Given the description of an element on the screen output the (x, y) to click on. 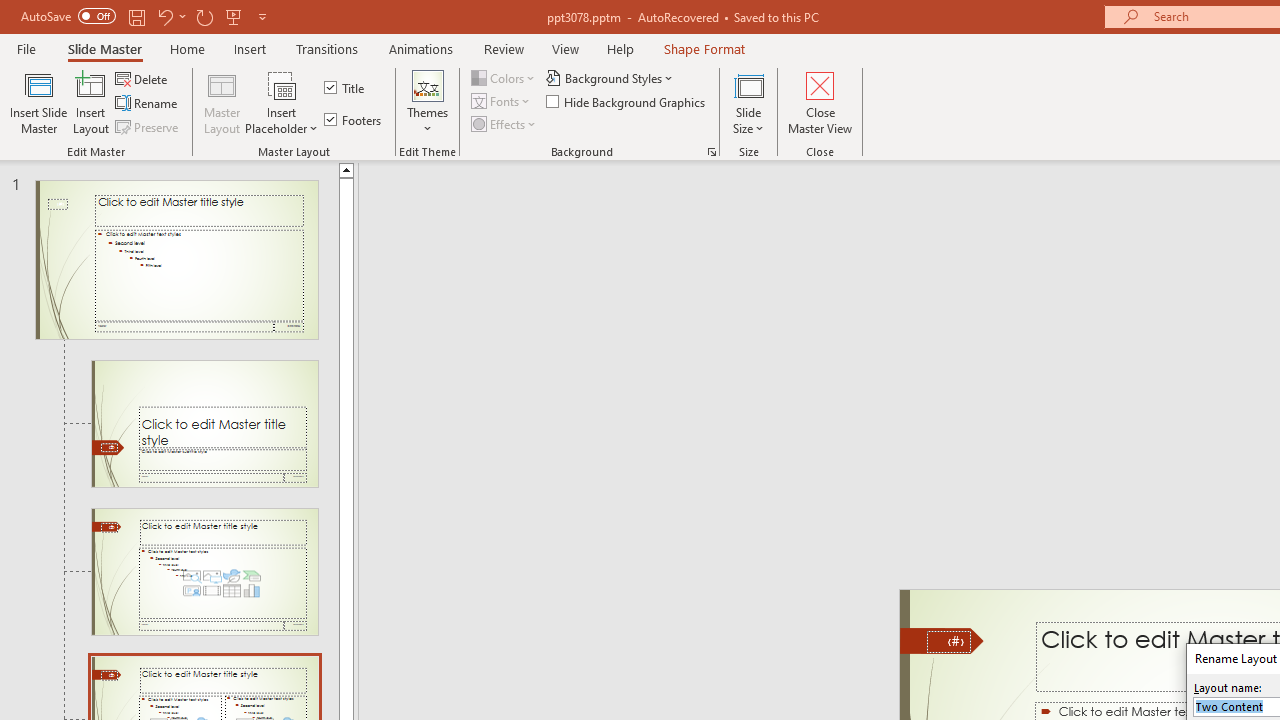
Hide Background Graphics (626, 101)
Slide Master (104, 48)
Themes (427, 102)
Background Styles (610, 78)
Freeform 11 (941, 640)
Content (282, 84)
Title (346, 87)
